Given the description of an element on the screen output the (x, y) to click on. 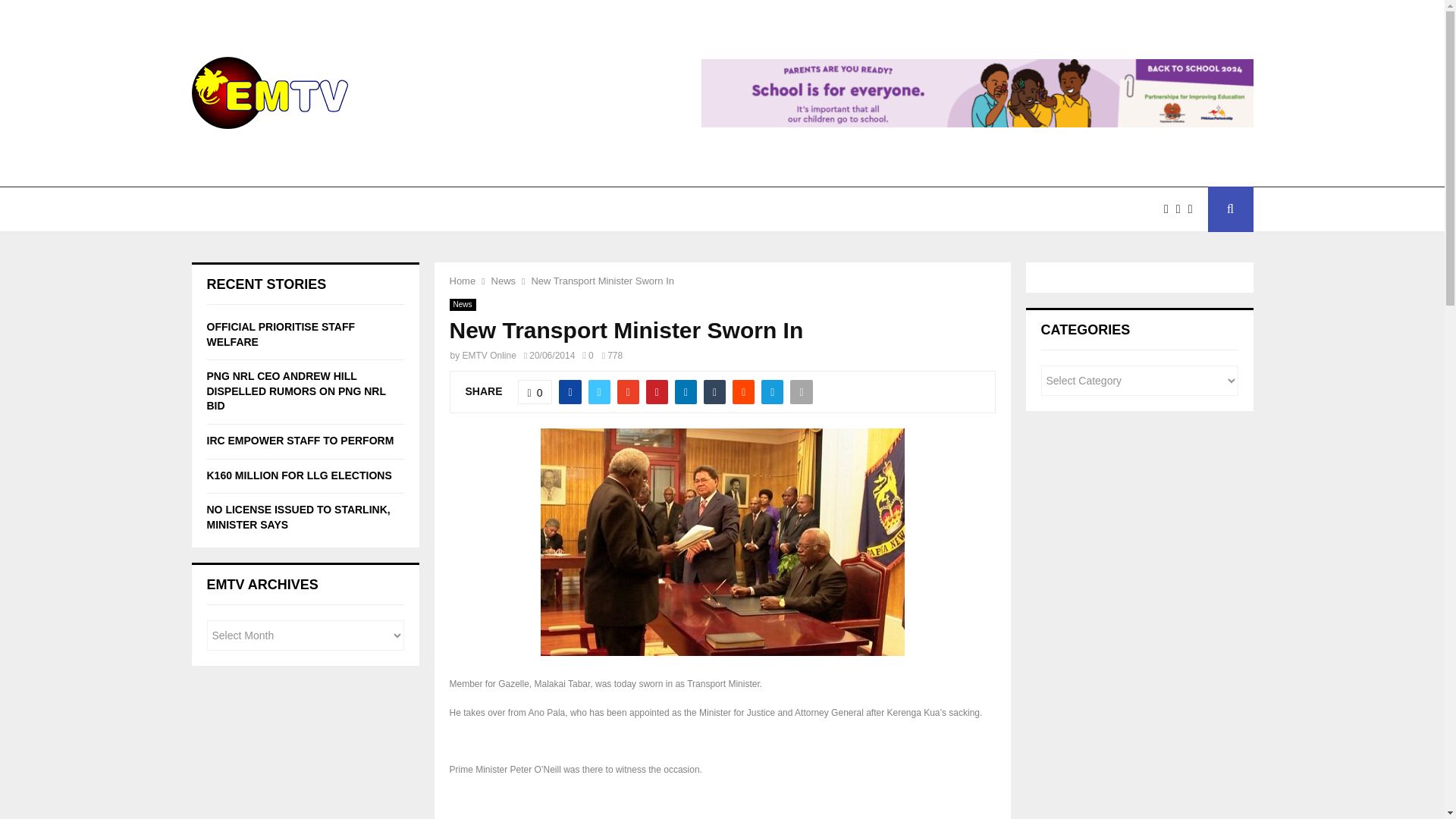
Youtube (1193, 208)
TV SCHEDULE (405, 208)
LIFE (674, 208)
PROGRAMMES (514, 208)
WATCH NOW (306, 208)
SPORT (606, 208)
Facebook (1169, 208)
Like (535, 392)
NEWS (224, 208)
Twitter (1182, 208)
